Given the description of an element on the screen output the (x, y) to click on. 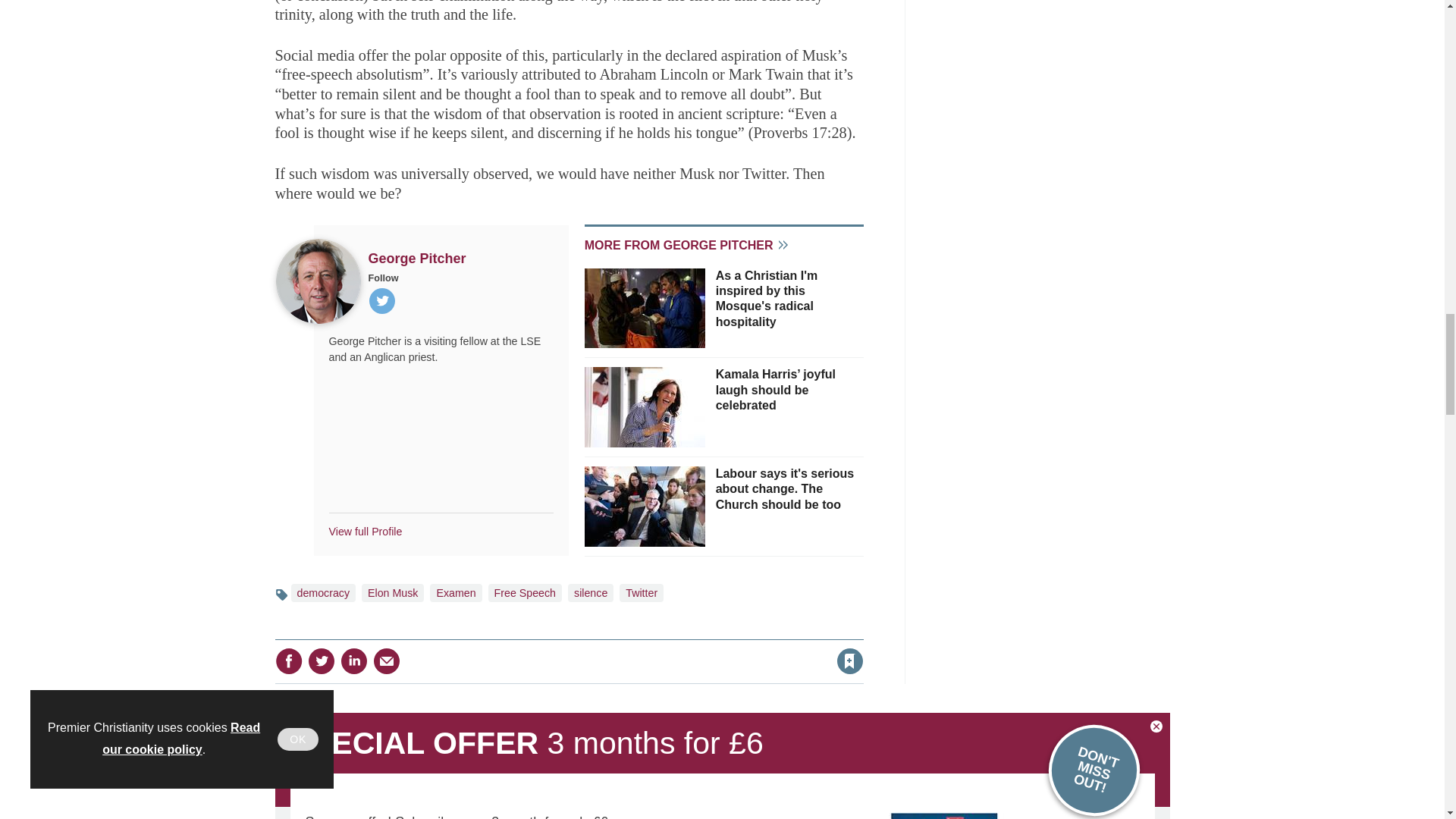
Share this on Linked in (352, 660)
Share this on Facebook (288, 660)
Share this on Twitter (320, 660)
Email this article (386, 660)
